Given the description of an element on the screen output the (x, y) to click on. 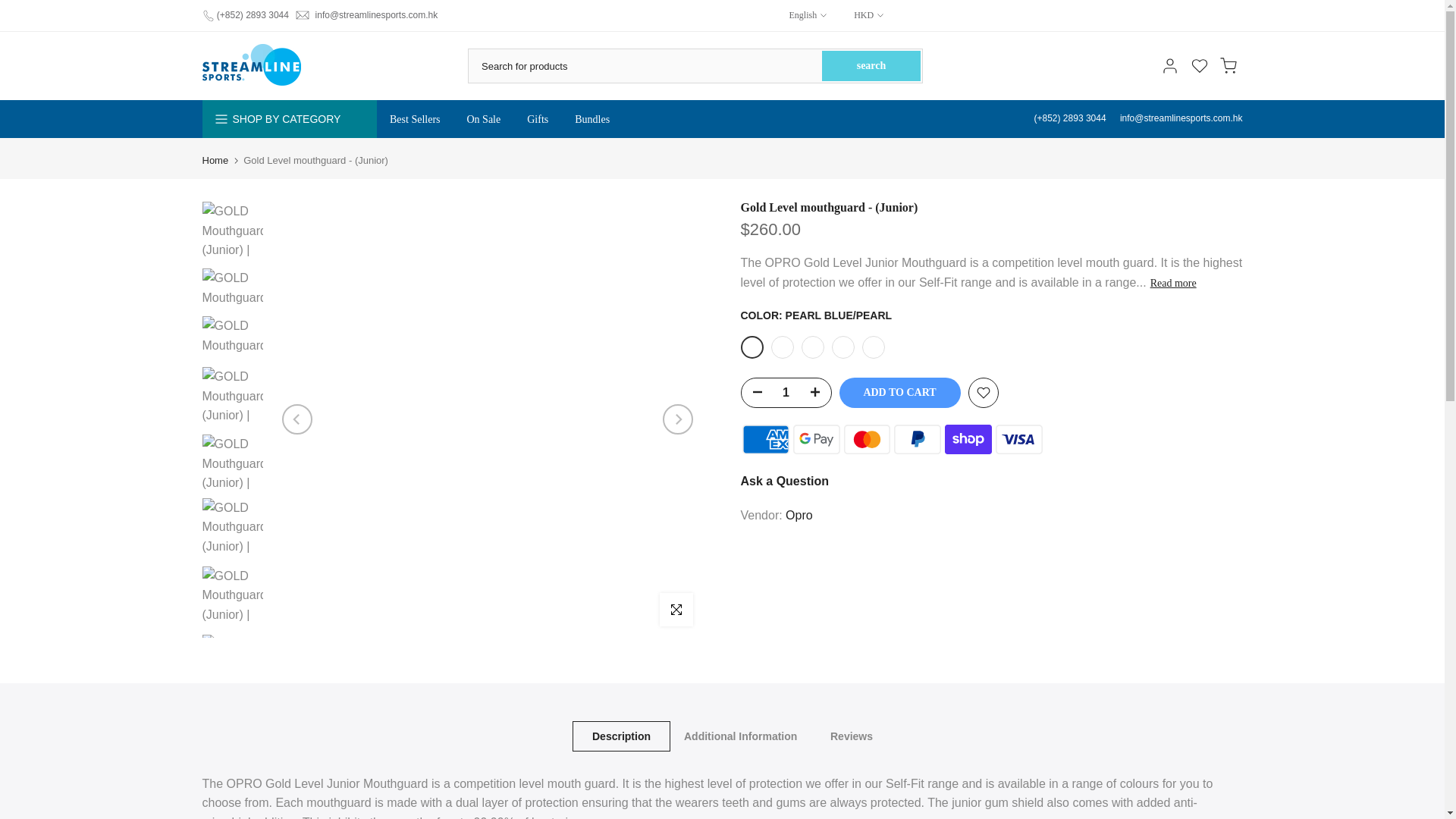
Read more (1173, 283)
Gifts (537, 119)
Best Sellers (413, 119)
Skip to content (10, 7)
Home (215, 160)
HKD (860, 14)
1 (786, 392)
Bundles (592, 119)
On Sale (482, 119)
Ask a Question (783, 481)
Additional Information (739, 736)
Opro (799, 514)
English (808, 14)
Description (620, 736)
search (871, 65)
